Given the description of an element on the screen output the (x, y) to click on. 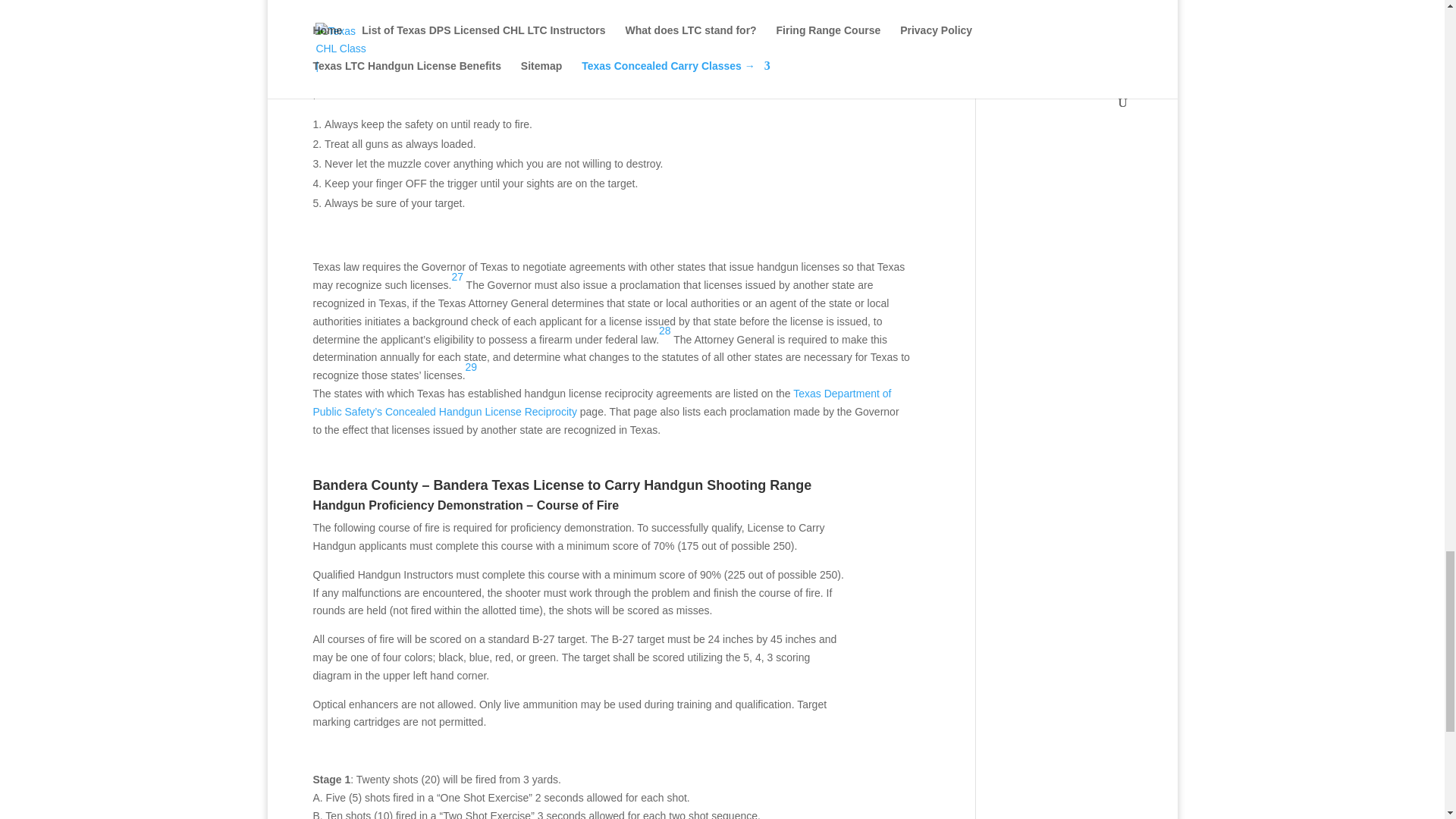
Id. (665, 330)
